Given the description of an element on the screen output the (x, y) to click on. 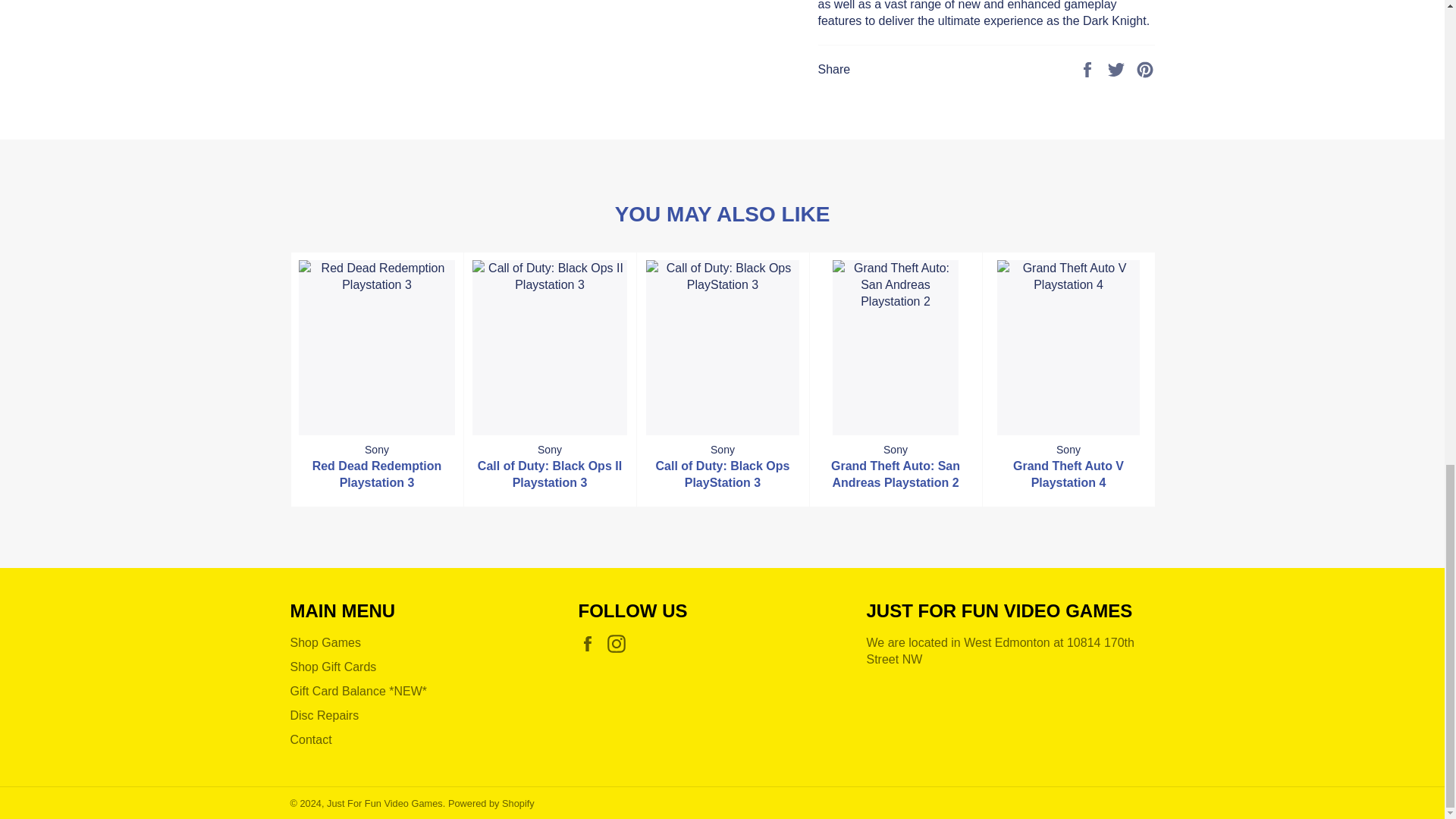
Just For Fun Video Games on Facebook (591, 643)
Share on Facebook (1088, 68)
Pin on Pinterest (1144, 68)
Just For Fun Video Games on Instagram (620, 643)
Tweet on Twitter (1117, 68)
